Given the description of an element on the screen output the (x, y) to click on. 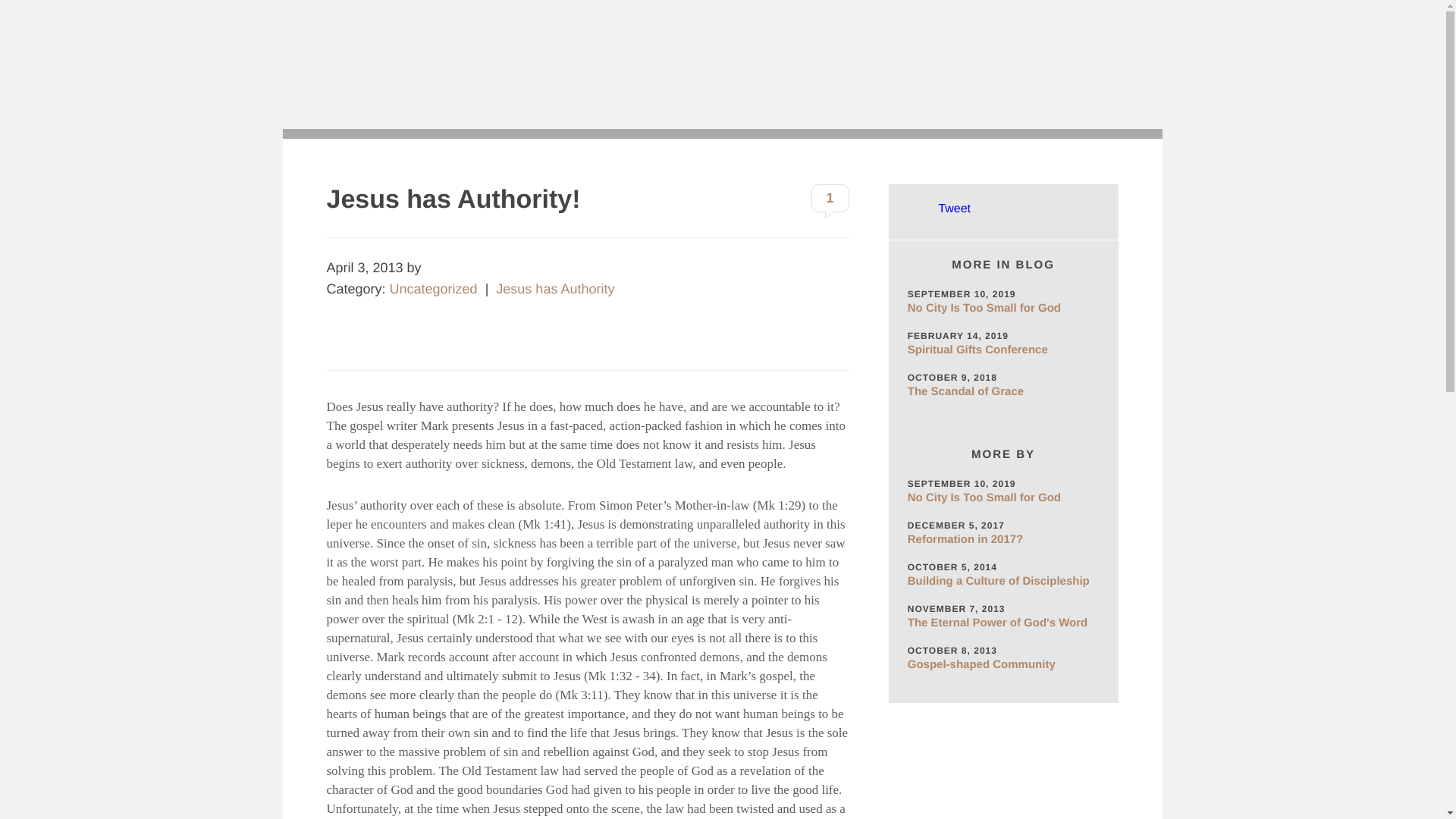
Uncategorized (433, 288)
Tweet (954, 209)
Spiritual Gifts Conference (1003, 350)
Reformation in 2017? (1003, 539)
The Scandal of Grace (1003, 391)
Jesus has Authority (555, 288)
1 (829, 198)
No City Is Too Small for God (1003, 498)
No City Is Too Small for God (1003, 308)
Building a Culture of Discipleship (1003, 581)
